Given the description of an element on the screen output the (x, y) to click on. 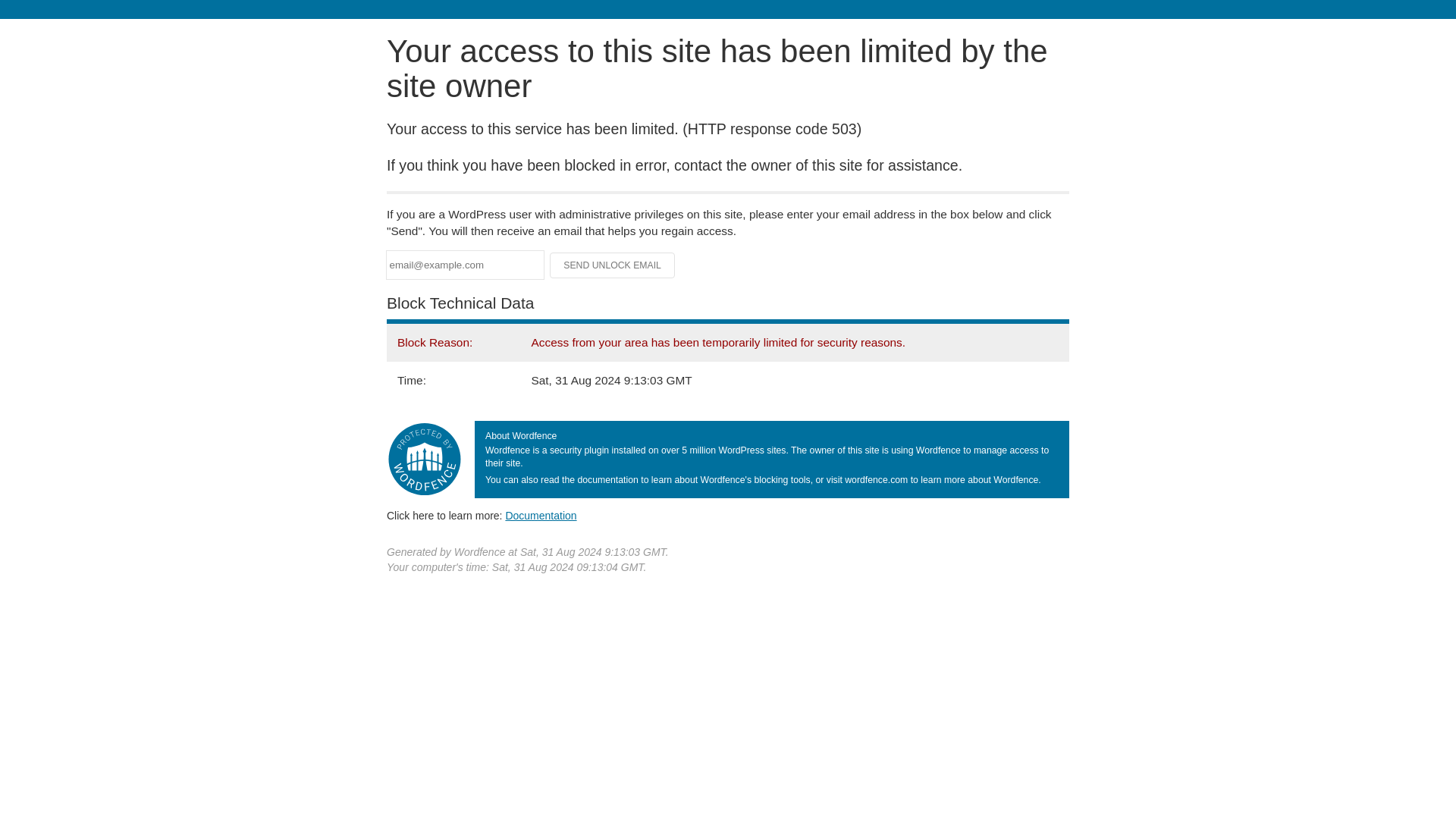
Documentation (540, 515)
Send Unlock Email (612, 265)
Send Unlock Email (612, 265)
